Given the description of an element on the screen output the (x, y) to click on. 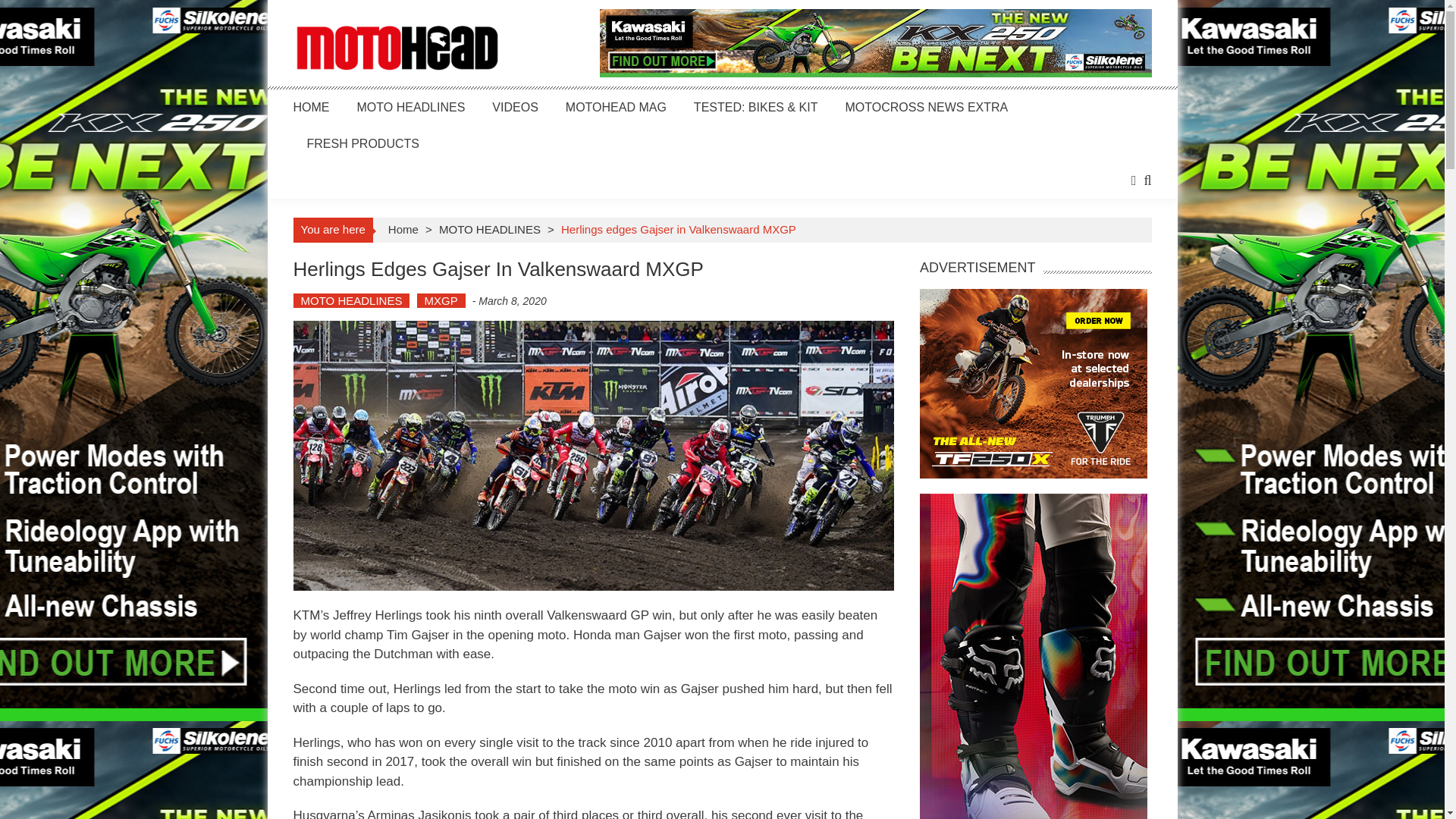
MOTO HEADLINES (350, 300)
MXGP (440, 300)
FRESH PRODUCTS (362, 143)
MOTOHEAD MAG (616, 106)
MOTO HEADLINES (410, 106)
MOTO HEADLINES (489, 228)
VIDEOS (514, 106)
motoheadmag (396, 48)
HOME (310, 106)
